Given the description of an element on the screen output the (x, y) to click on. 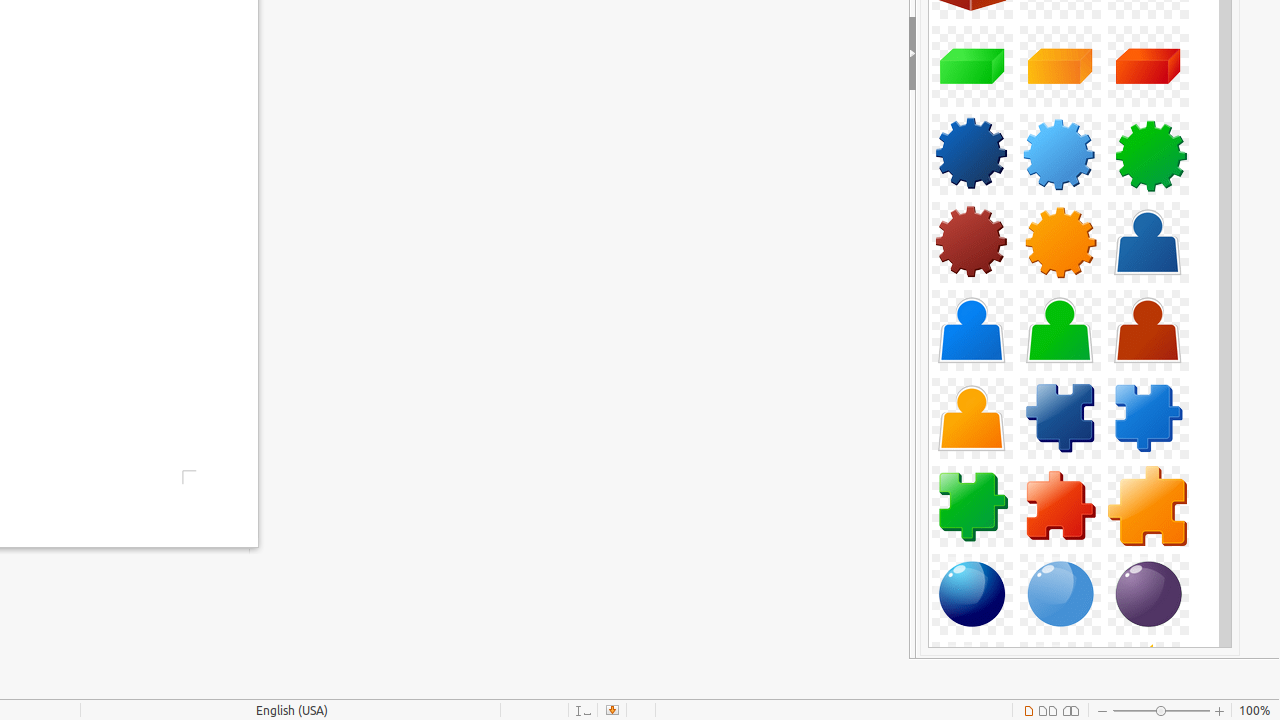
Component-PuzzlePiece02-Blue Element type: list-item (1148, 417)
Component-Gear05-Orange Element type: list-item (1060, 242)
Component-Cuboid04-Orange Element type: list-item (1060, 65)
Component-Person05-Orange Element type: list-item (972, 417)
Component-Person01-DarkBlue Element type: list-item (1148, 242)
